Given the description of an element on the screen output the (x, y) to click on. 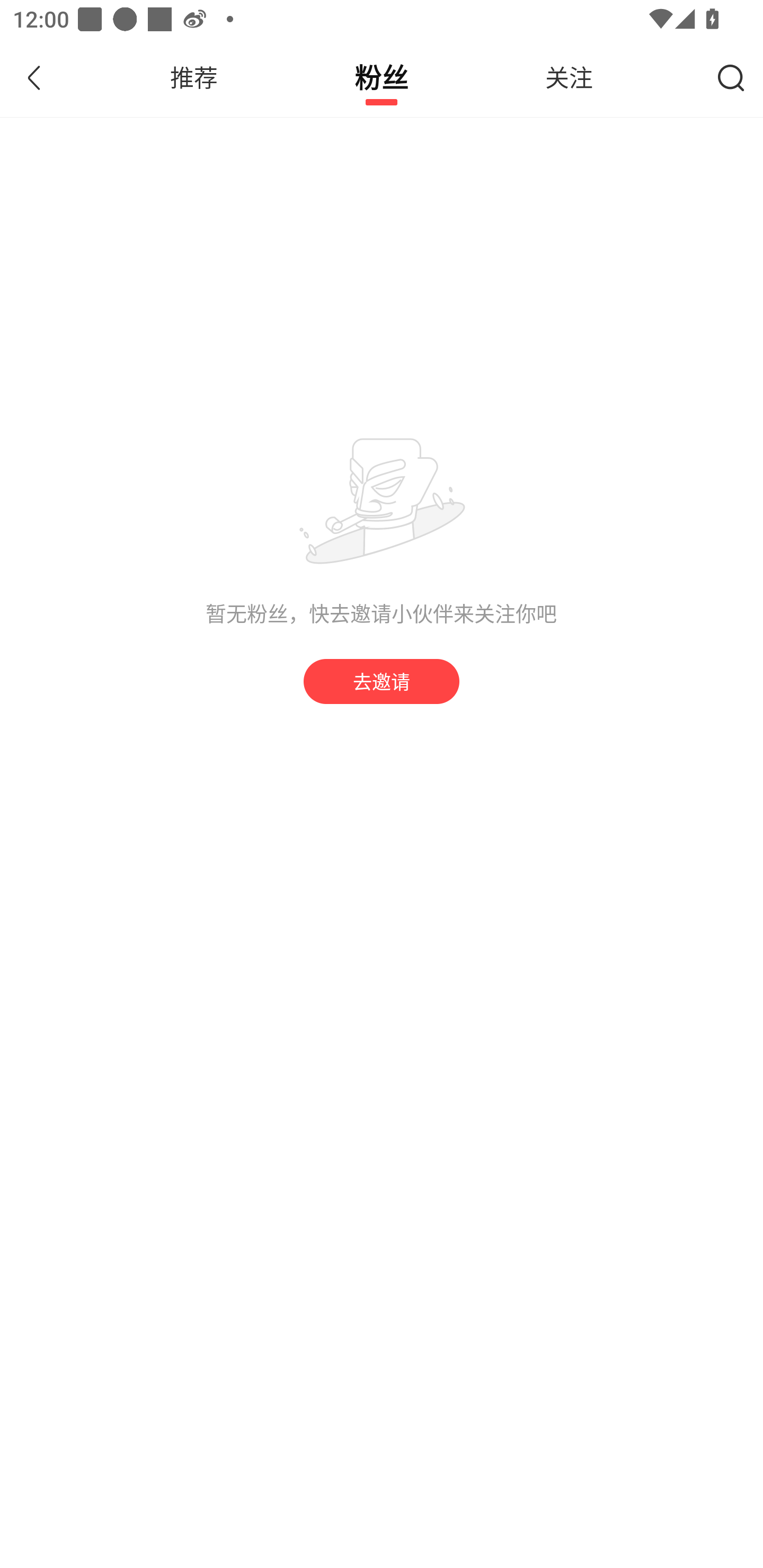
返回 (43, 77)
推荐 (193, 77)
粉丝 (381, 77)
关注 (569, 77)
暂无粉丝，快去邀请小伙伴来关注你吧 去邀请 (381, 555)
